Given the description of an element on the screen output the (x, y) to click on. 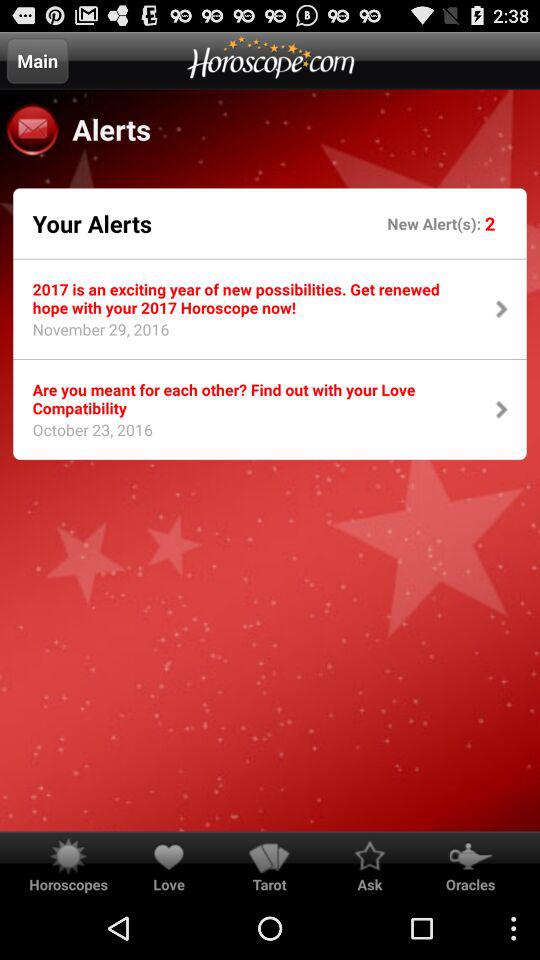
click the item above are you meant (94, 335)
